Given the description of an element on the screen output the (x, y) to click on. 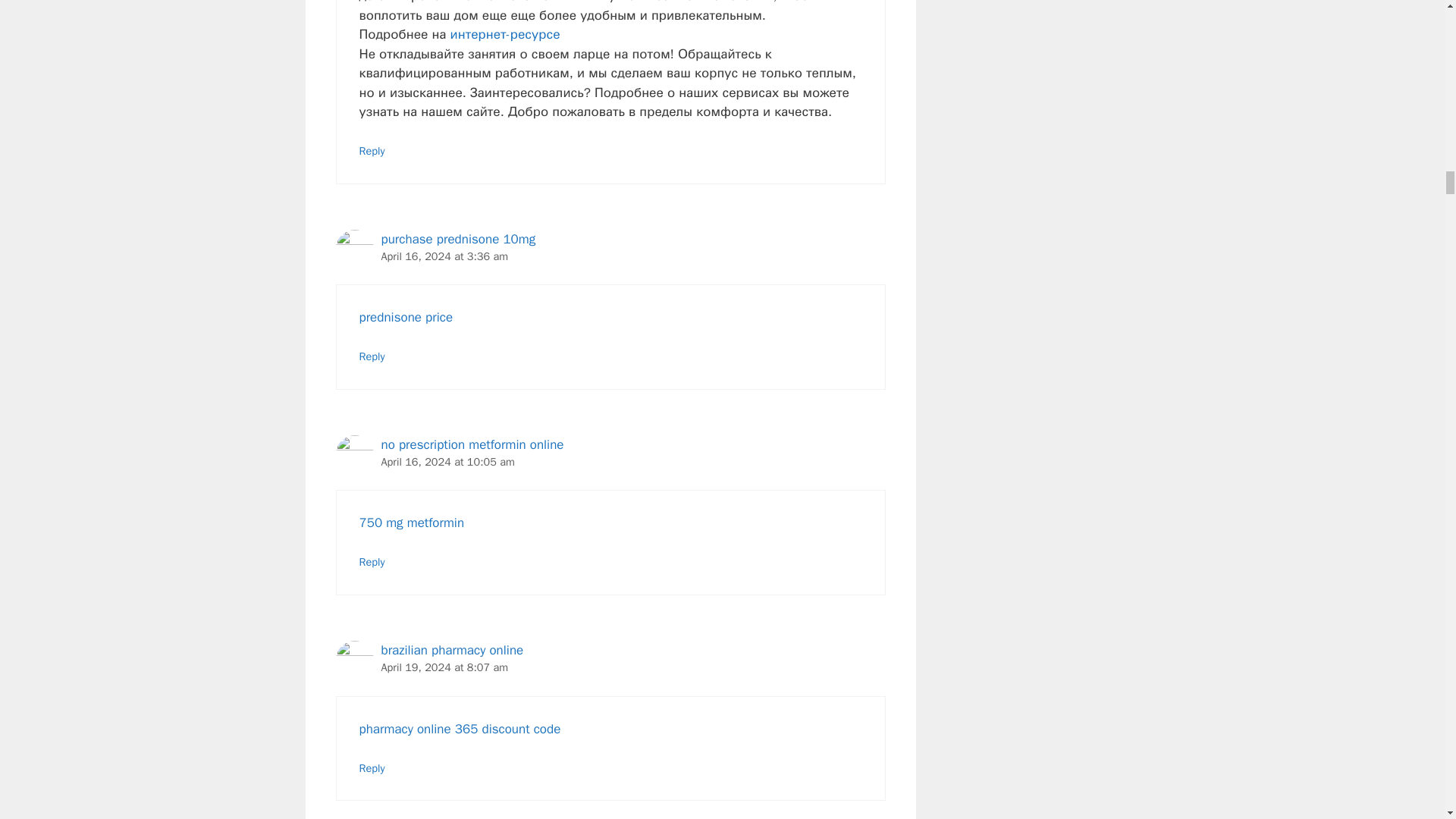
no prescription metformin online (471, 444)
April 16, 2024 at 3:36 am (444, 255)
pharmacy online 365 discount code (459, 729)
April 16, 2024 at 10:05 am (446, 461)
brazilian pharmacy online (451, 650)
Reply (372, 151)
750 mg metformin (411, 522)
prednisone price (405, 317)
purchase prednisone 10mg (457, 238)
Reply (372, 356)
